Given the description of an element on the screen output the (x, y) to click on. 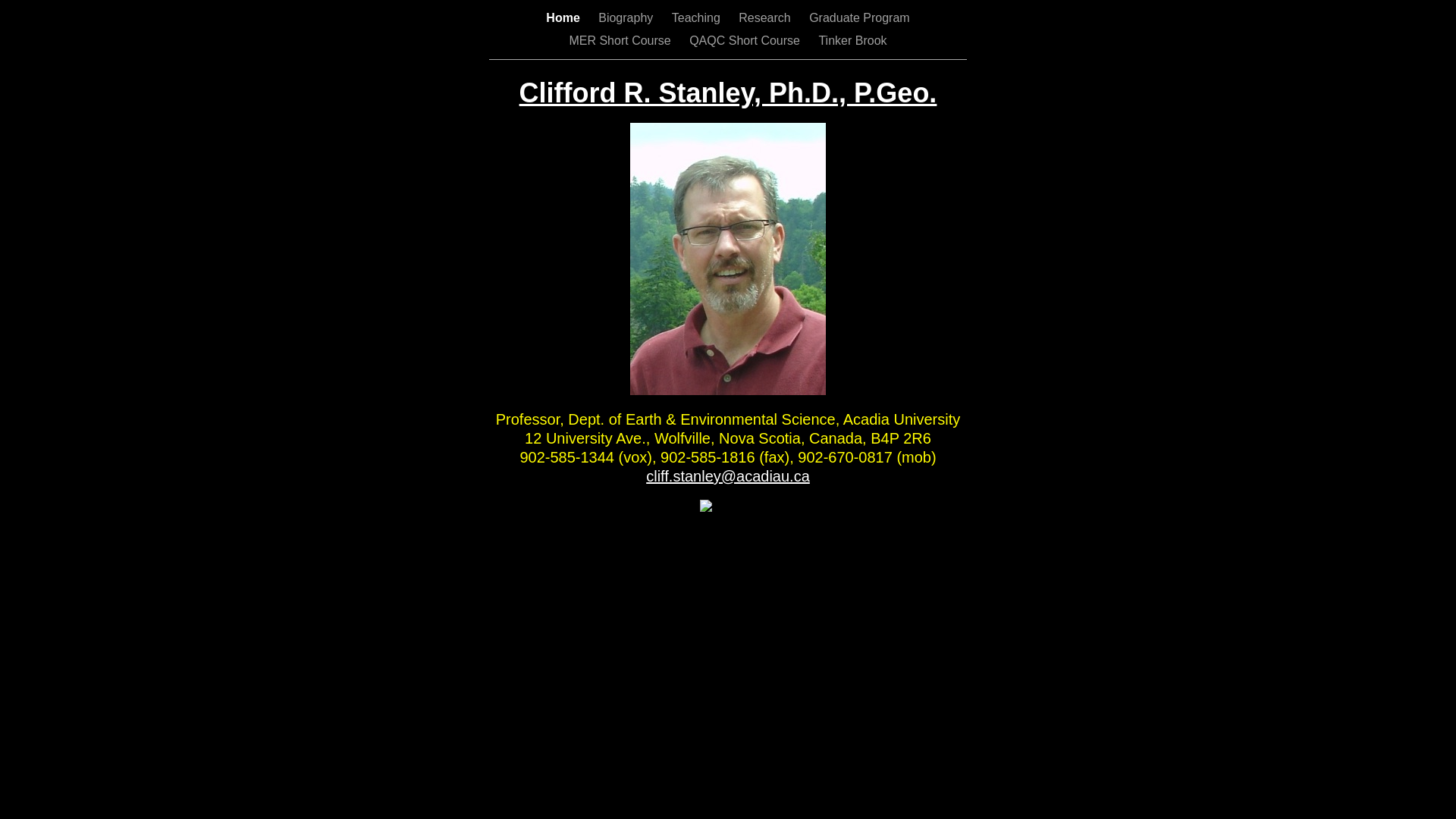
Teaching Element type: text (697, 17)
Clifford R. Stanley, Ph.D., P.Geo. Element type: text (728, 92)
Tinker Brook Element type: text (852, 40)
QAQC Short Course Element type: text (746, 40)
Graduate Program Element type: text (859, 17)
Biography Element type: text (627, 17)
Home Element type: text (564, 17)
MER Short Course Element type: text (621, 40)
Research Element type: text (765, 17)
cliff.stanley@acadiau.ca Element type: text (727, 475)
